Given the description of an element on the screen output the (x, y) to click on. 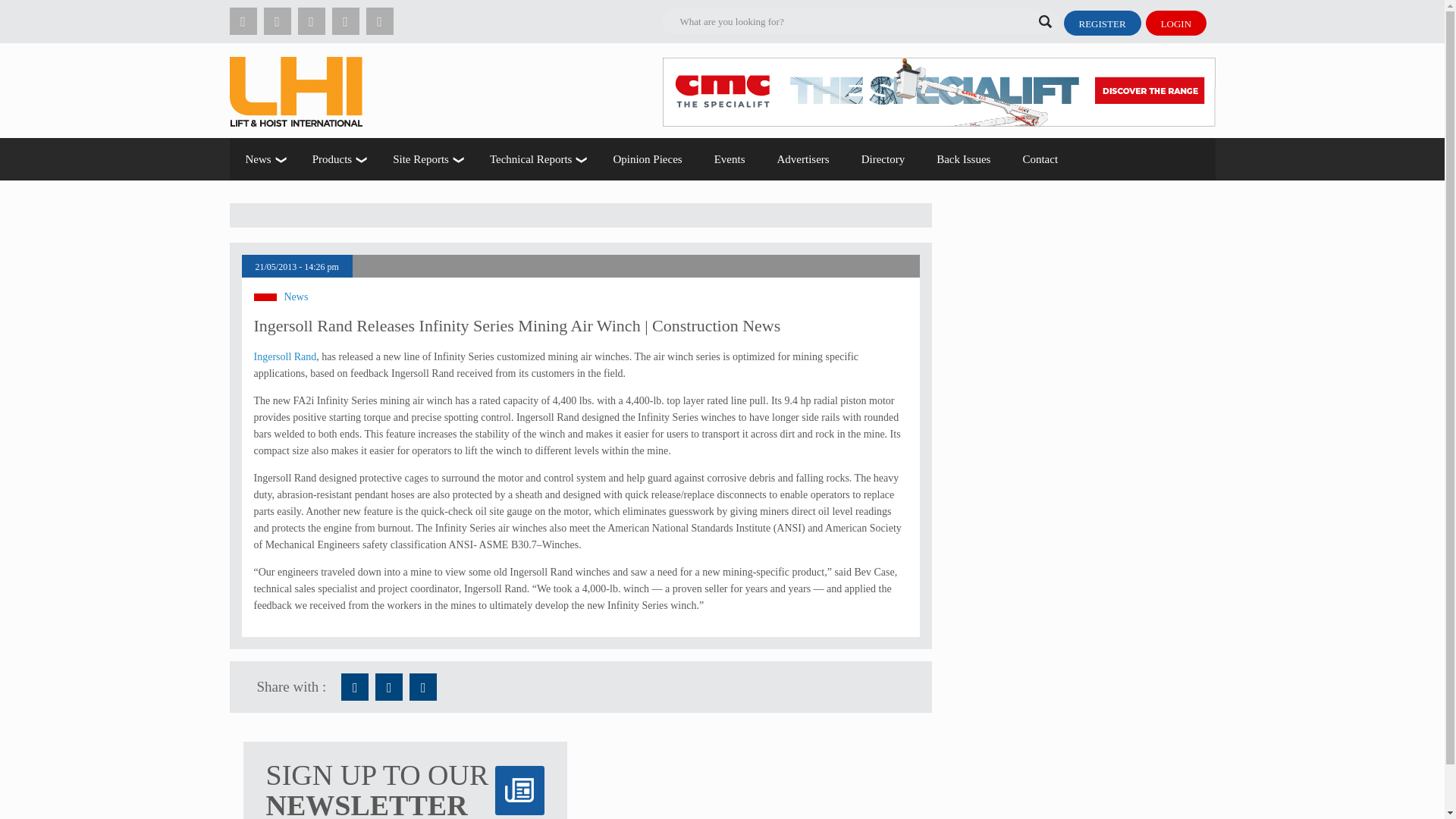
Site Reports (425, 159)
Search (198, 12)
REGISTER (1101, 23)
Products (337, 159)
Lift and Hoist Australia  Facebook (354, 687)
LOGIN (1176, 23)
News (261, 159)
Lift and Hoist Australia  LinkedIn (422, 687)
